Given the description of an element on the screen output the (x, y) to click on. 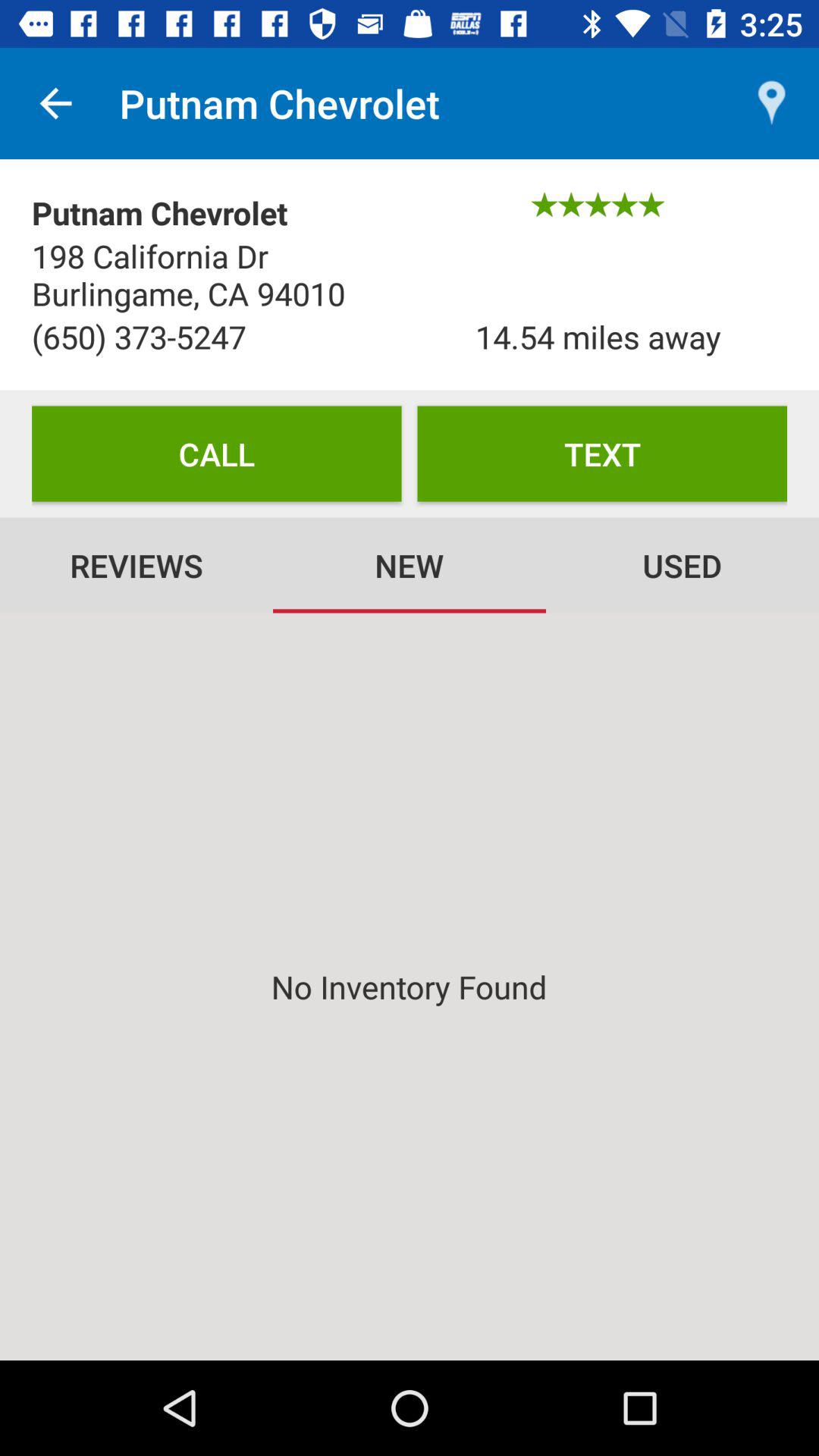
press icon above the putnam chevrolet icon (55, 103)
